Given the description of an element on the screen output the (x, y) to click on. 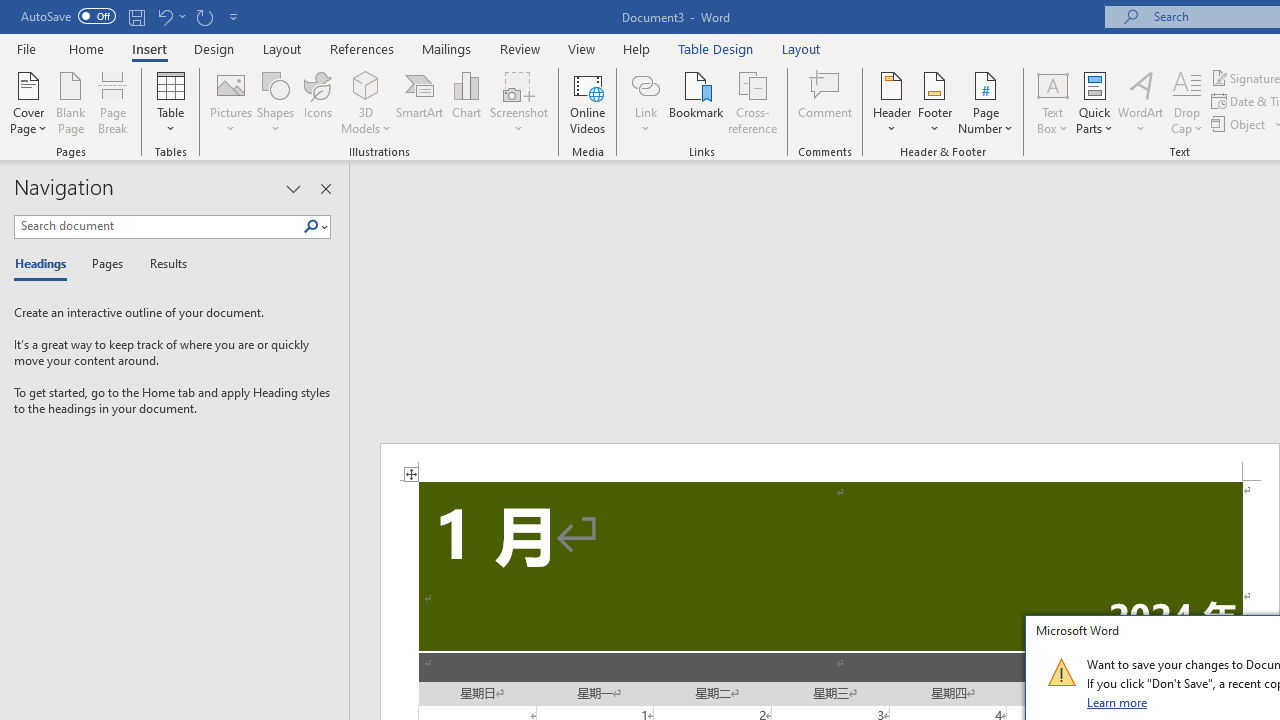
Headings (45, 264)
References (362, 48)
Chart... (466, 102)
Page Break (113, 102)
Shapes (275, 102)
Bookmark... (695, 102)
Task Pane Options (293, 188)
Insert (149, 48)
Layout (801, 48)
Mailings (447, 48)
Design (214, 48)
Search (315, 227)
3D Models (366, 102)
Customize Quick Access Toolbar (234, 15)
